Given the description of an element on the screen output the (x, y) to click on. 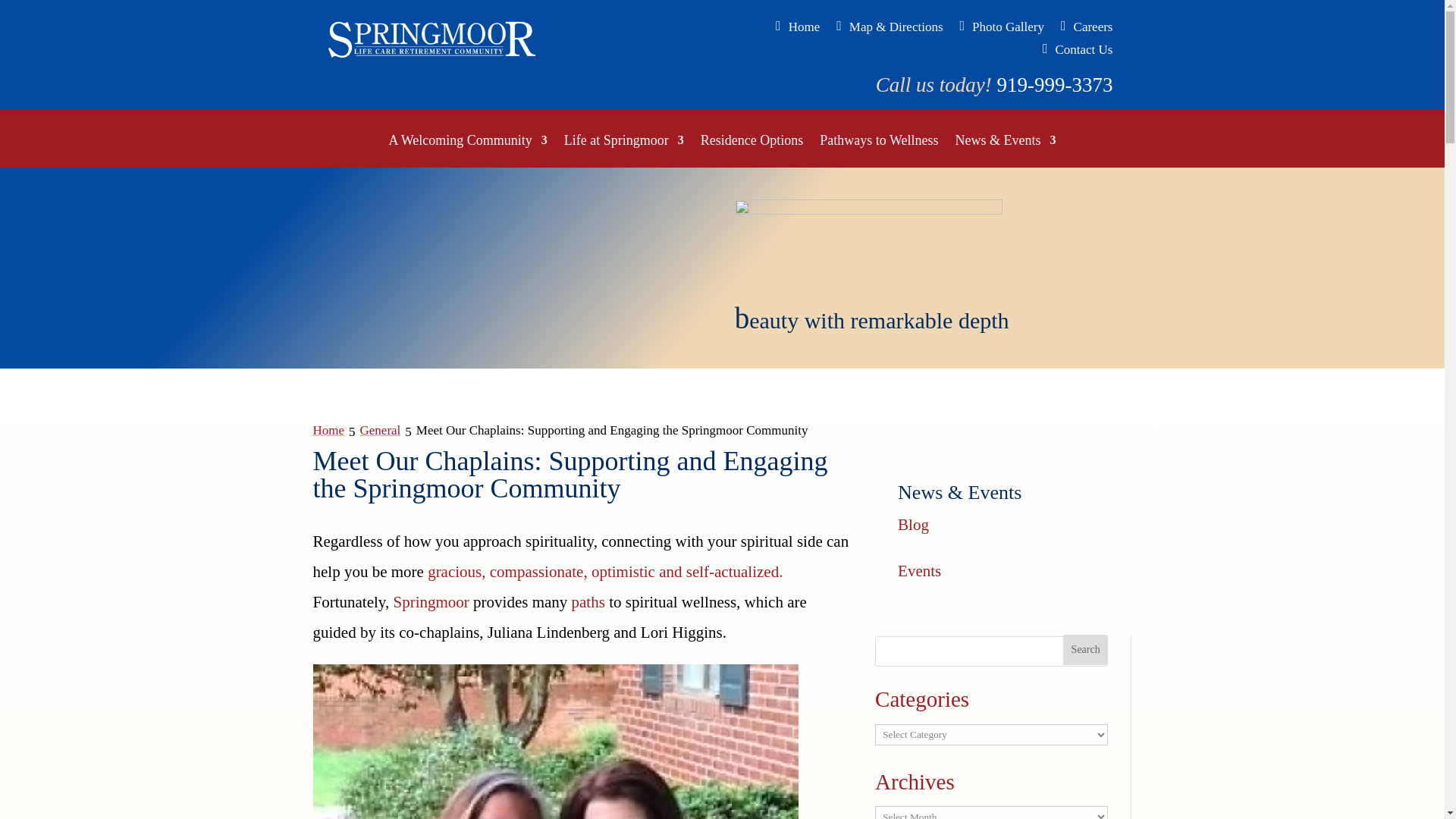
Search (1085, 649)
paths (588, 601)
A Welcoming Community (467, 151)
Springmoor (430, 601)
Life at Springmoor (624, 151)
gracious, compassionate, optimistic and self-actualized. (605, 571)
919-999-3373 (1053, 84)
springmooris (869, 246)
Pathways to Wellness (878, 151)
Photo Gallery (1001, 30)
